Given the description of an element on the screen output the (x, y) to click on. 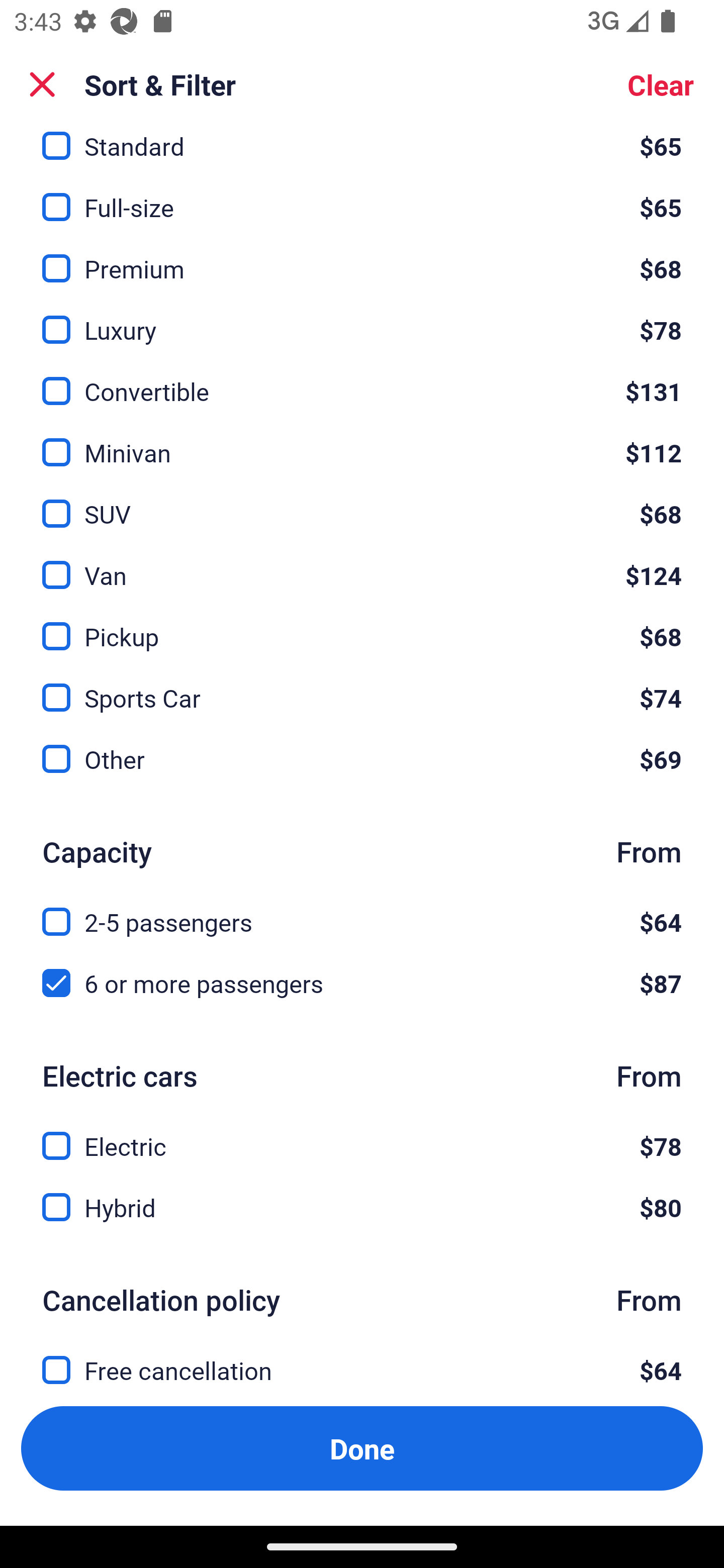
Close Sort and Filter (42, 84)
Clear (660, 84)
Standard, $65 Standard $65 (361, 145)
Full-size, $65 Full-size $65 (361, 195)
Premium, $68 Premium $68 (361, 257)
Luxury, $78 Luxury $78 (361, 318)
Convertible, $131 Convertible $131 (361, 379)
Minivan, $112 Minivan $112 (361, 440)
SUV, $68 SUV $68 (361, 502)
Van, $124 Van $124 (361, 563)
Pickup, $68 Pickup $68 (361, 624)
Sports Car, $74 Sports Car $74 (361, 685)
Other, $69 Other $69 (361, 758)
2-5 passengers, $64 2-5 passengers $64 (361, 909)
6 or more passengers, $87 6 or more passengers $87 (361, 982)
Electric, $78 Electric $78 (361, 1134)
Hybrid, $80 Hybrid $80 (361, 1207)
Free cancellation, $64 Free cancellation $64 (361, 1367)
Apply and close Sort and Filter Done (361, 1448)
